Given the description of an element on the screen output the (x, y) to click on. 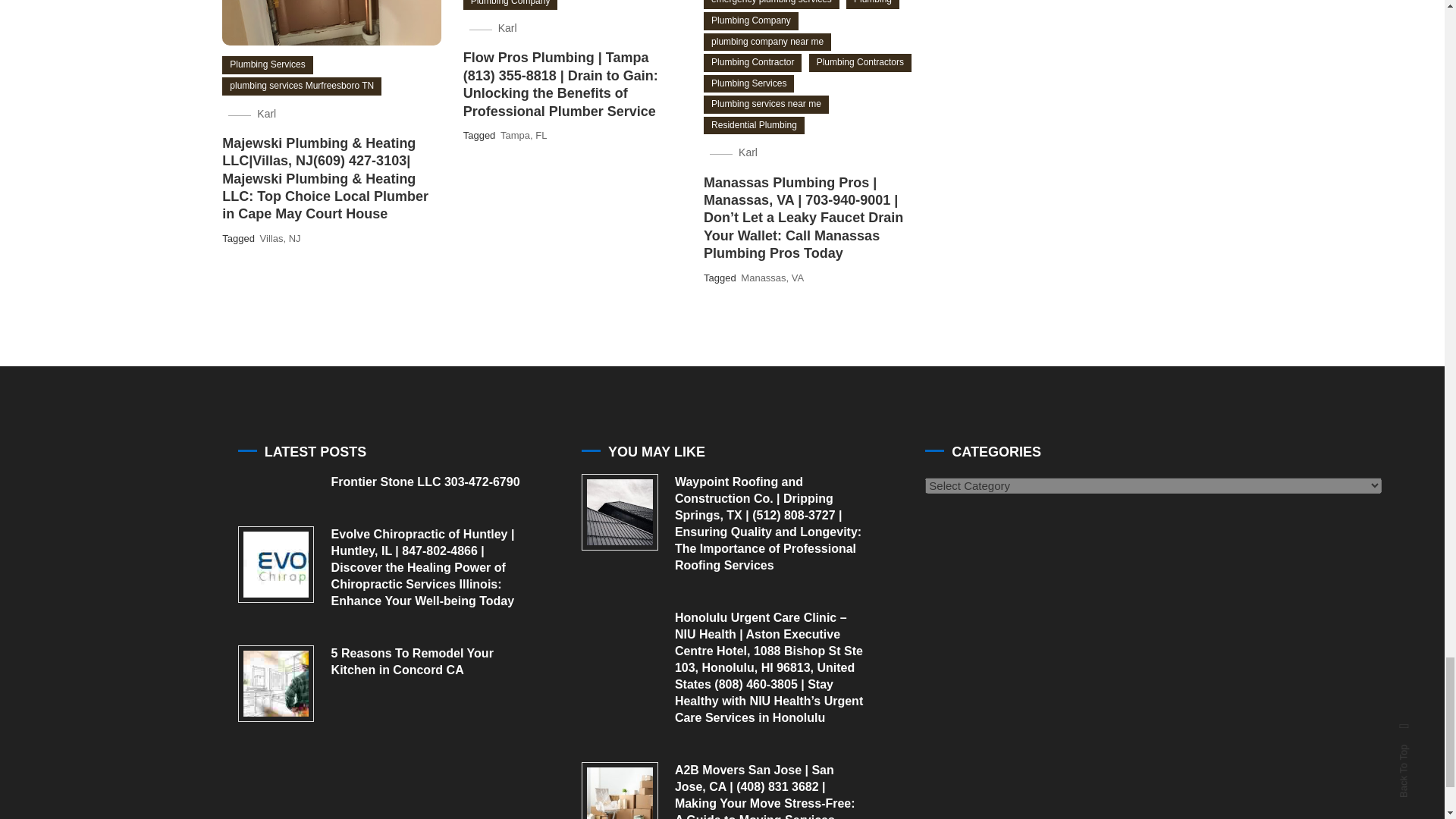
5 Reasons To Remodel Your Kitchen in Concord CA (276, 683)
